Given the description of an element on the screen output the (x, y) to click on. 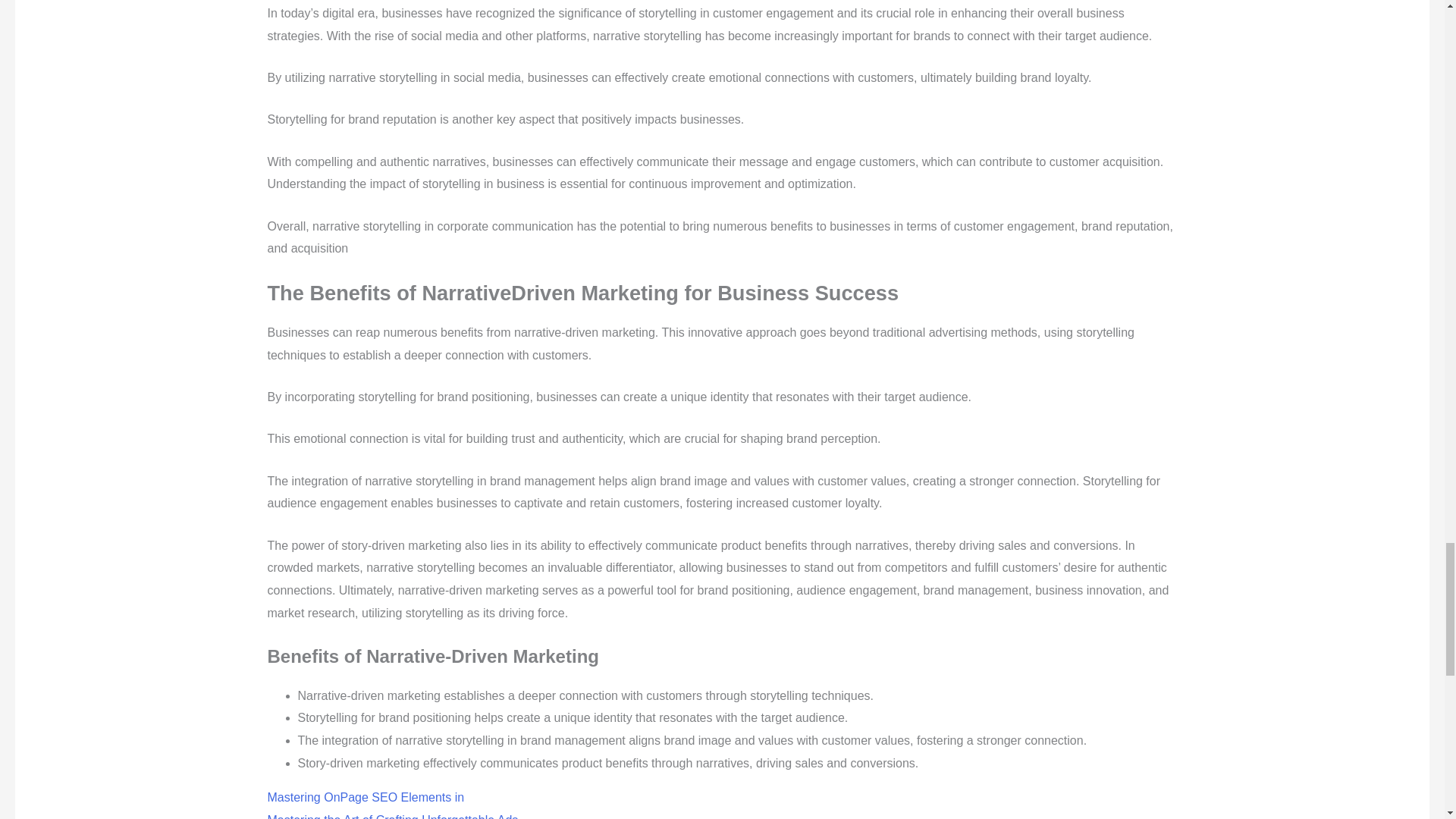
Mastering OnPage SEO Elements in (365, 797)
Mastering the Art of Crafting Unforgettable Ads (392, 816)
